Given the description of an element on the screen output the (x, y) to click on. 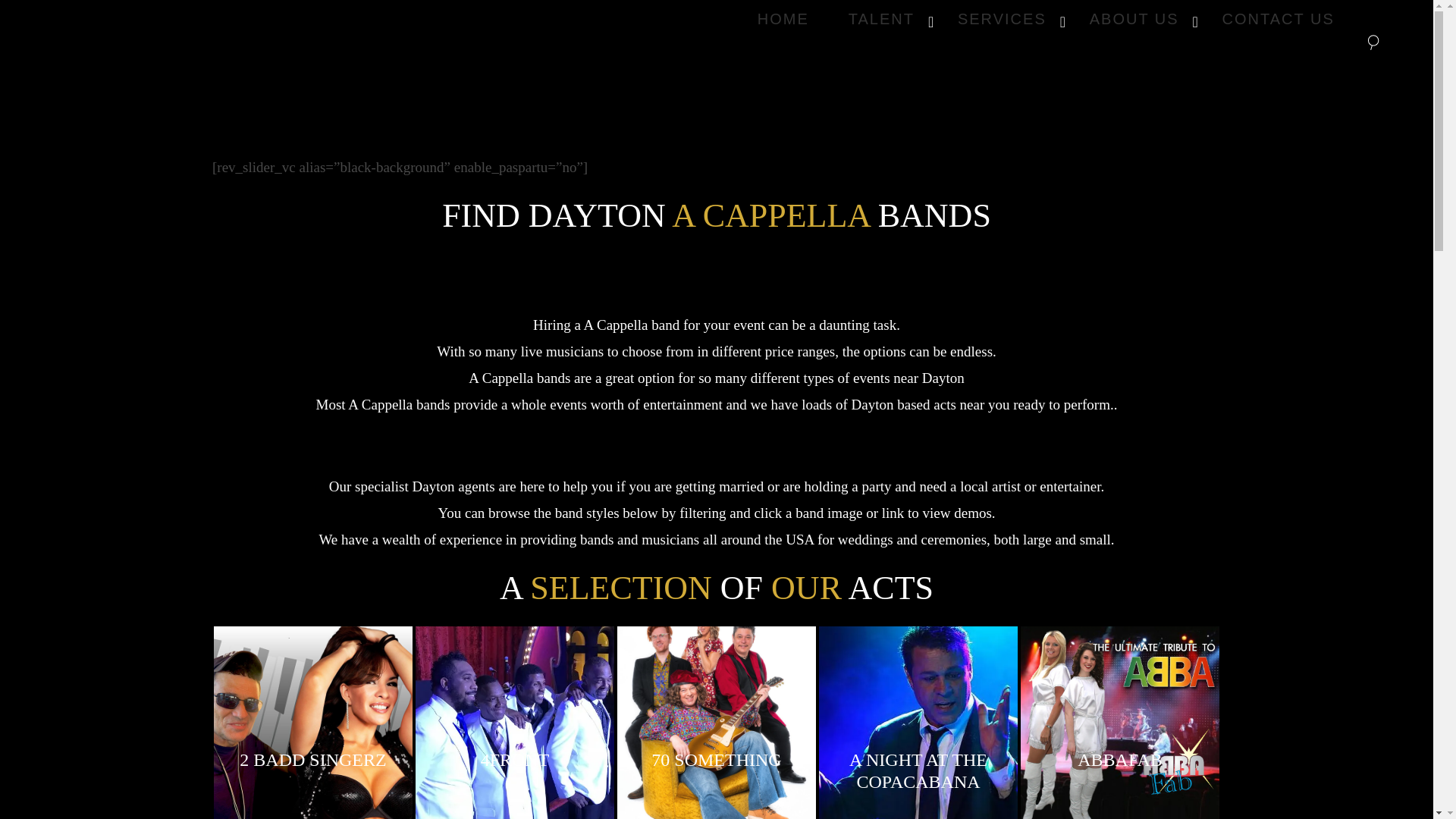
CONTACT US (1046, 18)
HOME (1278, 18)
